Given the description of an element on the screen output the (x, y) to click on. 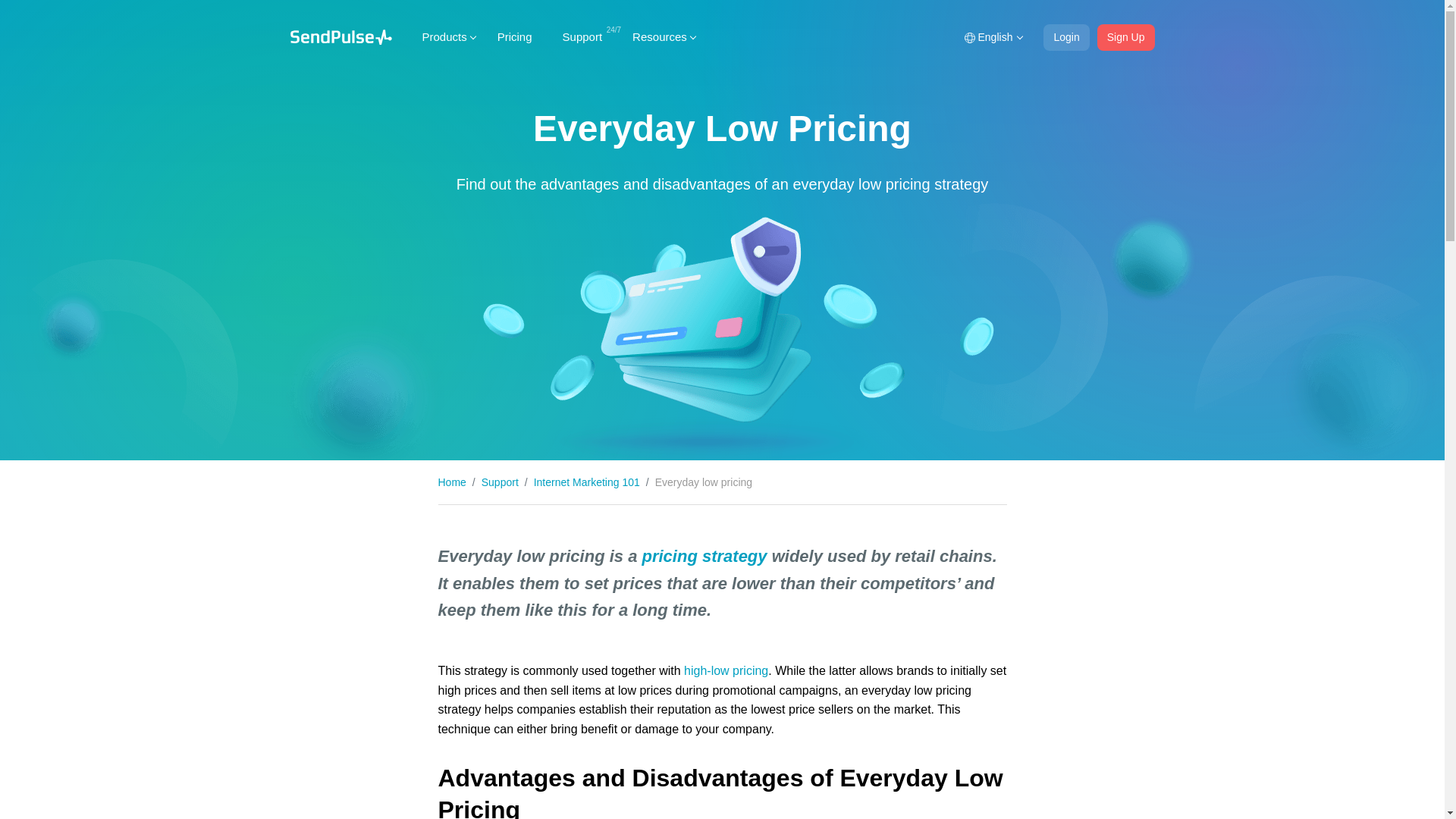
Resources (659, 36)
Login (1066, 37)
English (991, 37)
English (991, 37)
Pricing (514, 36)
Products (443, 36)
Support (582, 36)
